Given the description of an element on the screen output the (x, y) to click on. 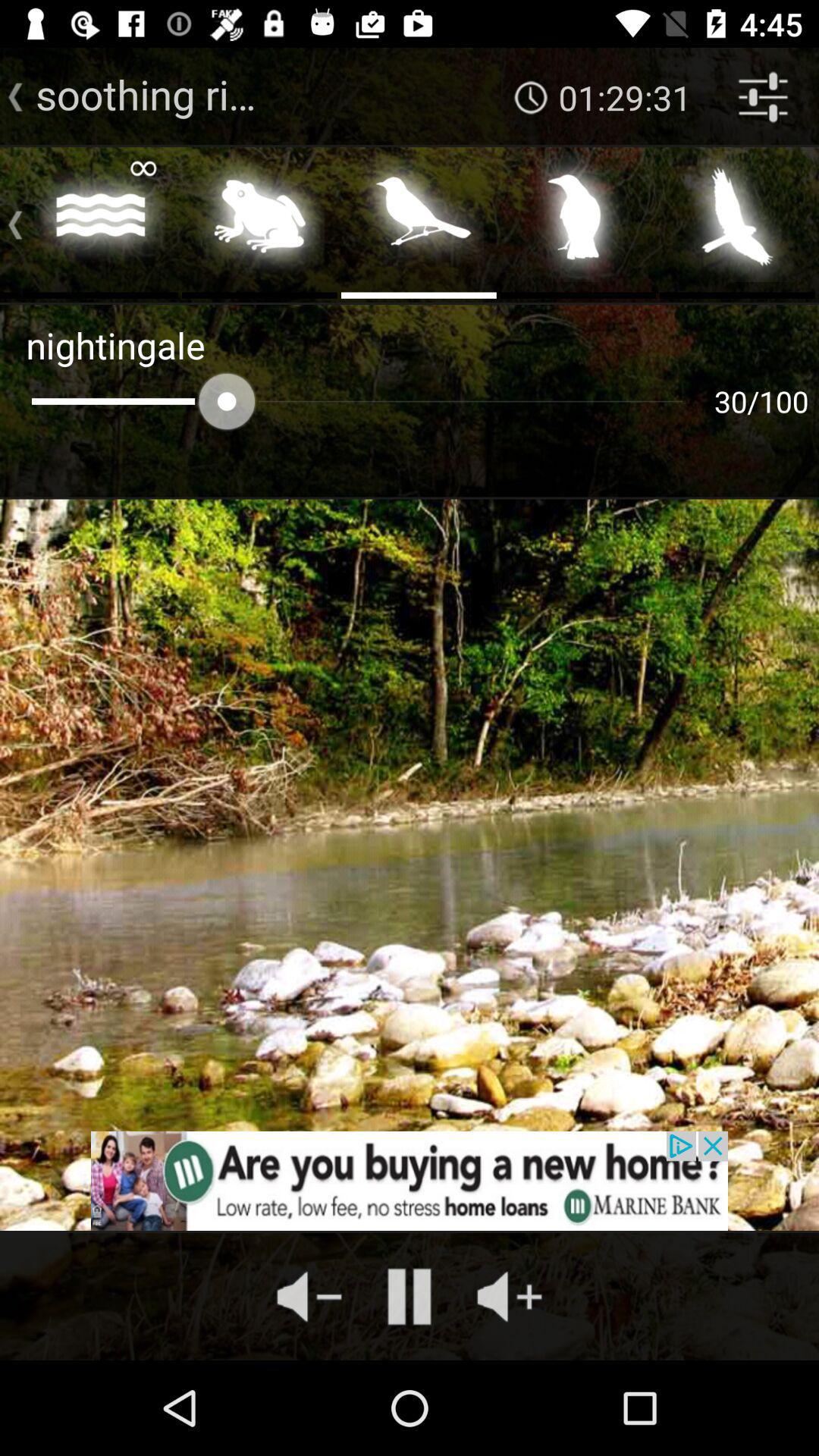
select element (737, 221)
